Given the description of an element on the screen output the (x, y) to click on. 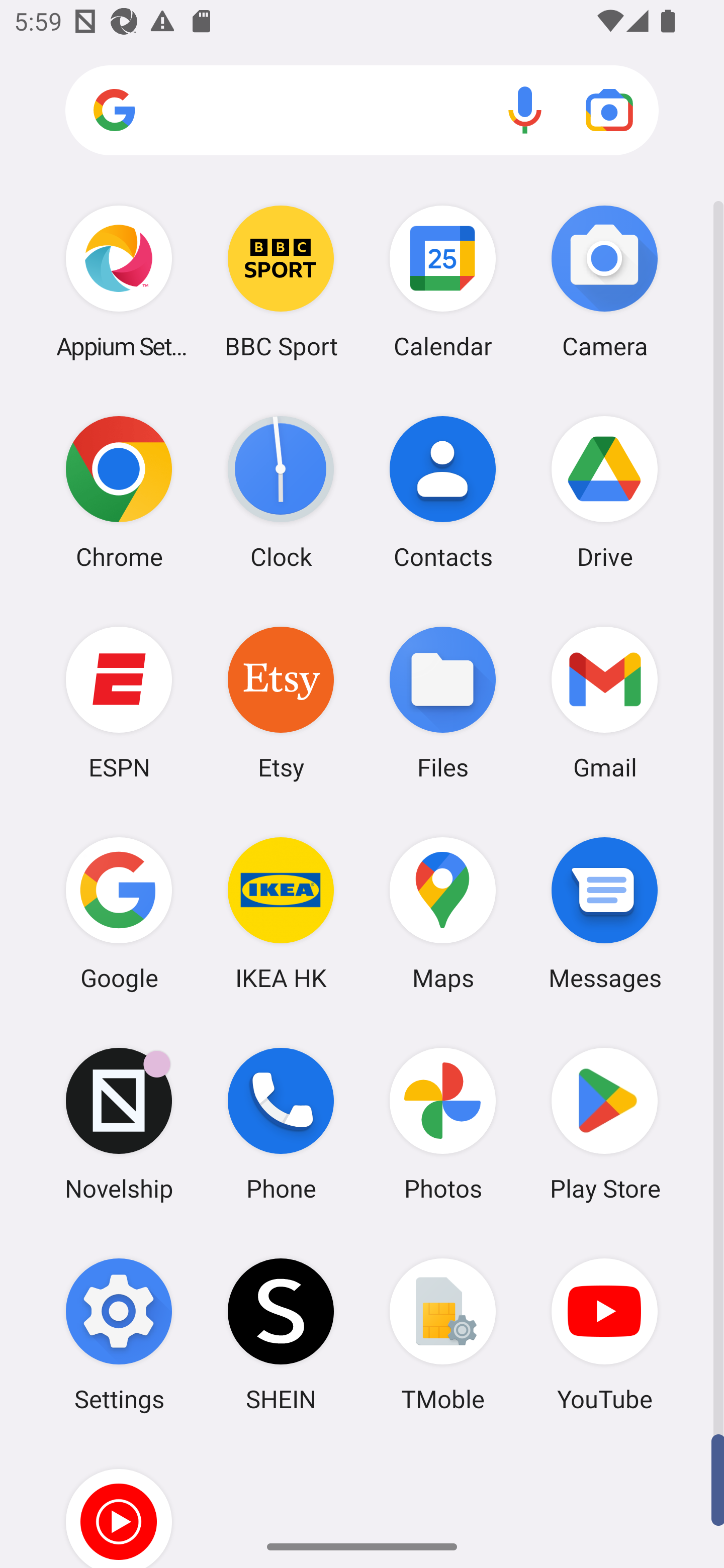
Search apps, web and more (361, 110)
Voice search (524, 109)
Google Lens (608, 109)
Appium Settings (118, 281)
BBC Sport (280, 281)
Calendar (443, 281)
Camera (604, 281)
Chrome (118, 492)
Clock (280, 492)
Contacts (443, 492)
Drive (604, 492)
ESPN (118, 702)
Etsy (280, 702)
Files (443, 702)
Gmail (604, 702)
Google (118, 913)
IKEA HK (280, 913)
Maps (443, 913)
Messages (604, 913)
Novelship Novelship has 2 notifications (118, 1124)
Phone (280, 1124)
Photos (443, 1124)
Play Store (604, 1124)
Settings (118, 1334)
SHEIN (280, 1334)
TMoble (443, 1334)
YouTube (604, 1334)
YT Music (118, 1503)
